Given the description of an element on the screen output the (x, y) to click on. 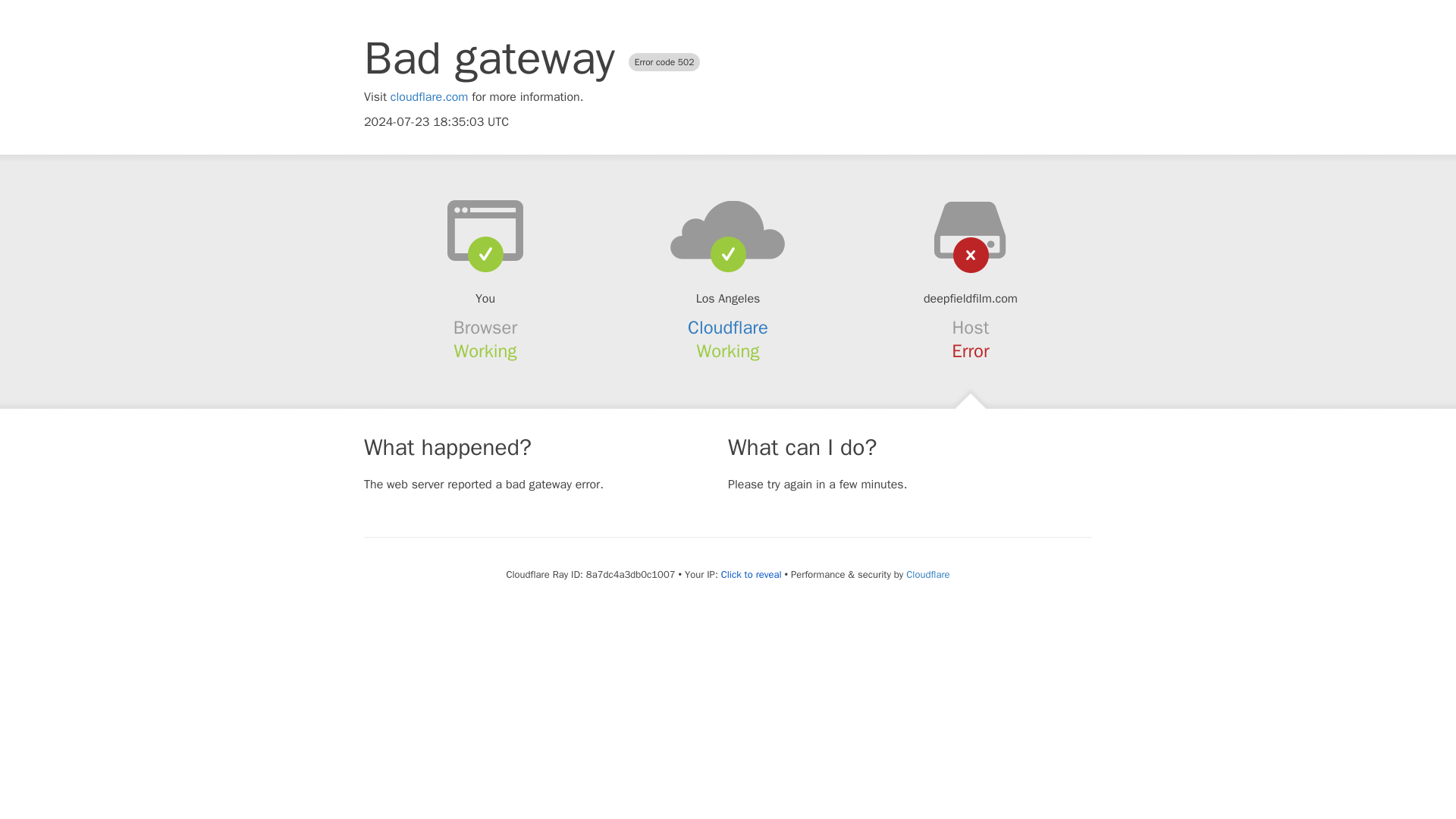
Cloudflare (927, 574)
Cloudflare (727, 327)
Click to reveal (750, 574)
cloudflare.com (429, 96)
